Given the description of an element on the screen output the (x, y) to click on. 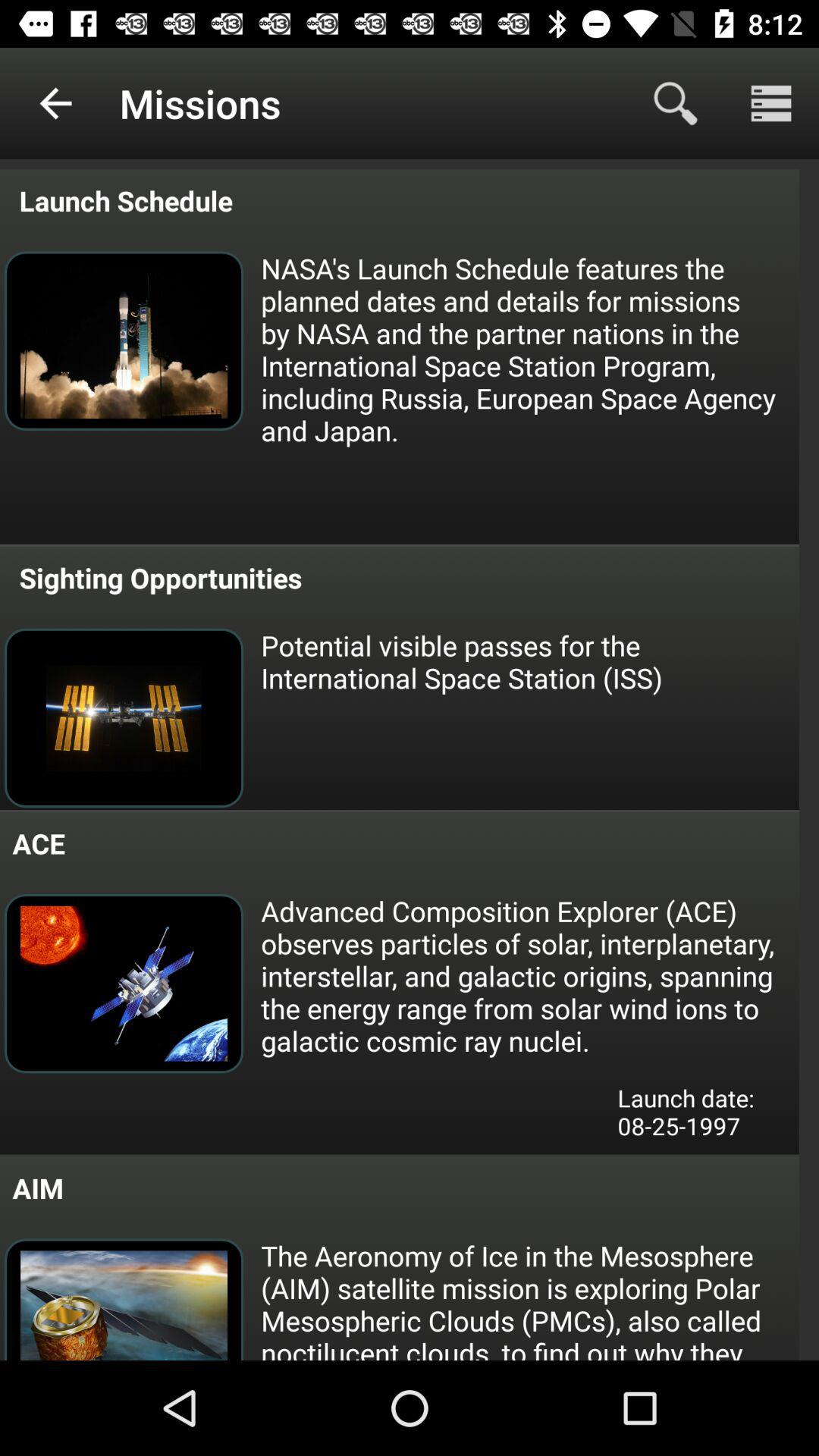
jump to the nasa s launch (528, 349)
